Given the description of an element on the screen output the (x, y) to click on. 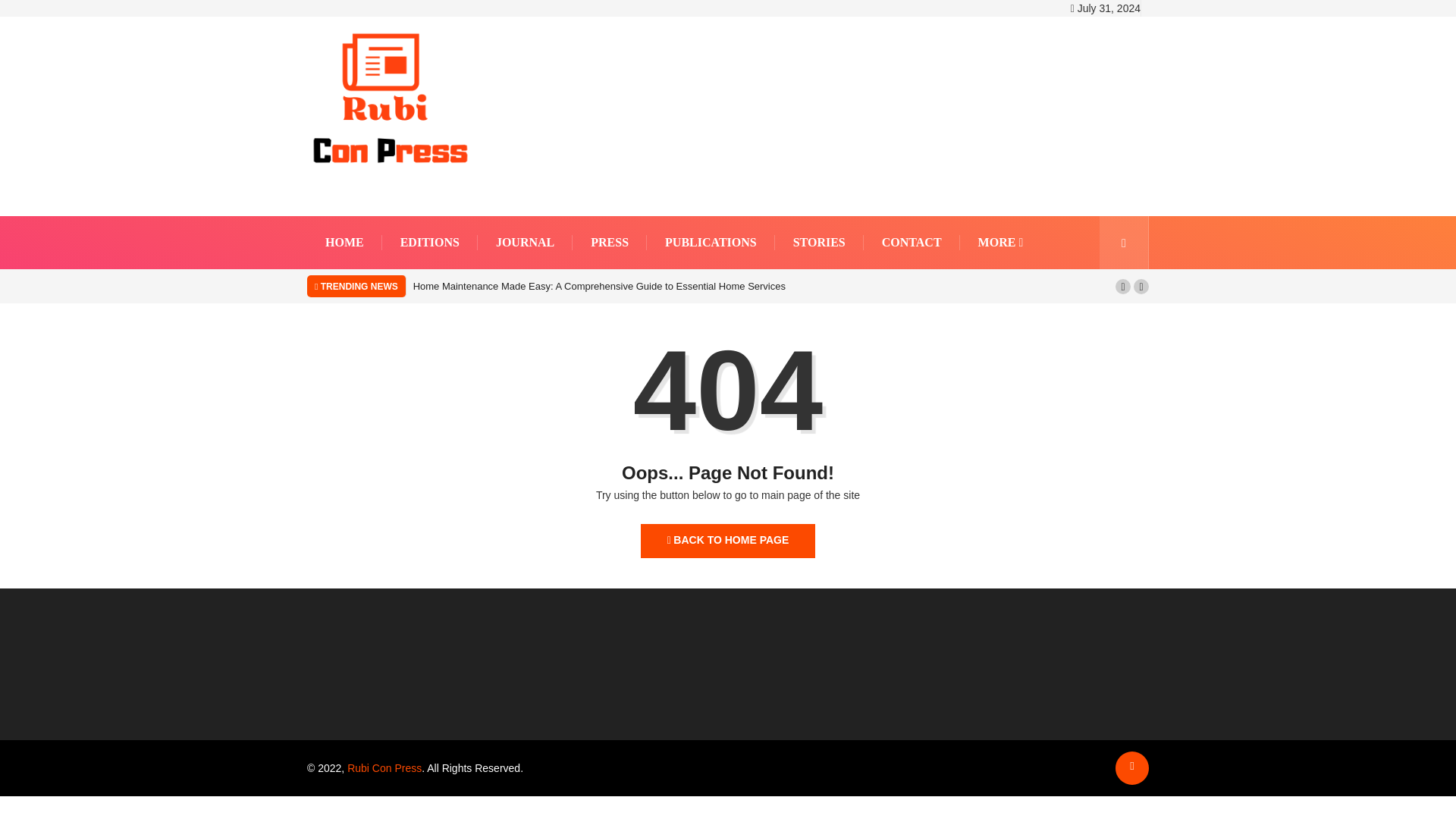
Rubi Con Press (384, 767)
PUBLICATIONS (711, 242)
JOURNAL (525, 242)
CONTACT (912, 242)
popup modal for search (1123, 242)
BACK TO HOME PAGE (727, 540)
STORIES (819, 242)
EDITIONS (430, 242)
